Given the description of an element on the screen output the (x, y) to click on. 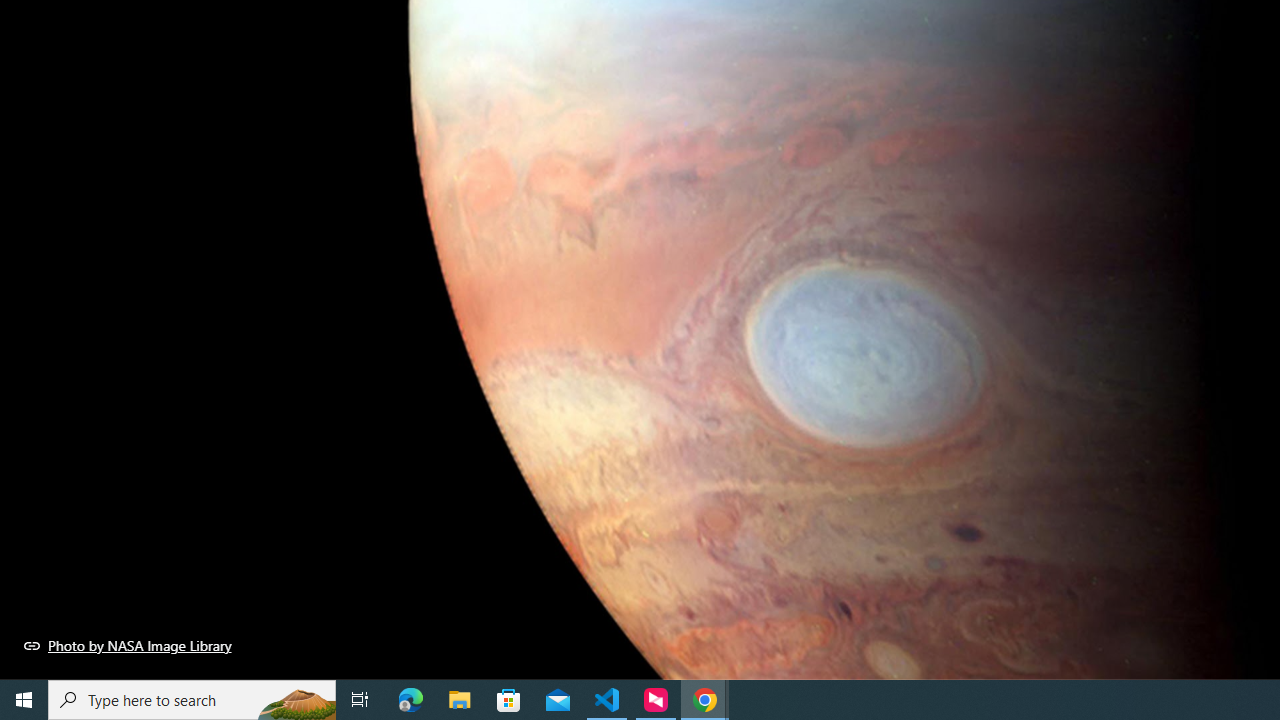
Photo by NASA Image Library (127, 645)
